Given the description of an element on the screen output the (x, y) to click on. 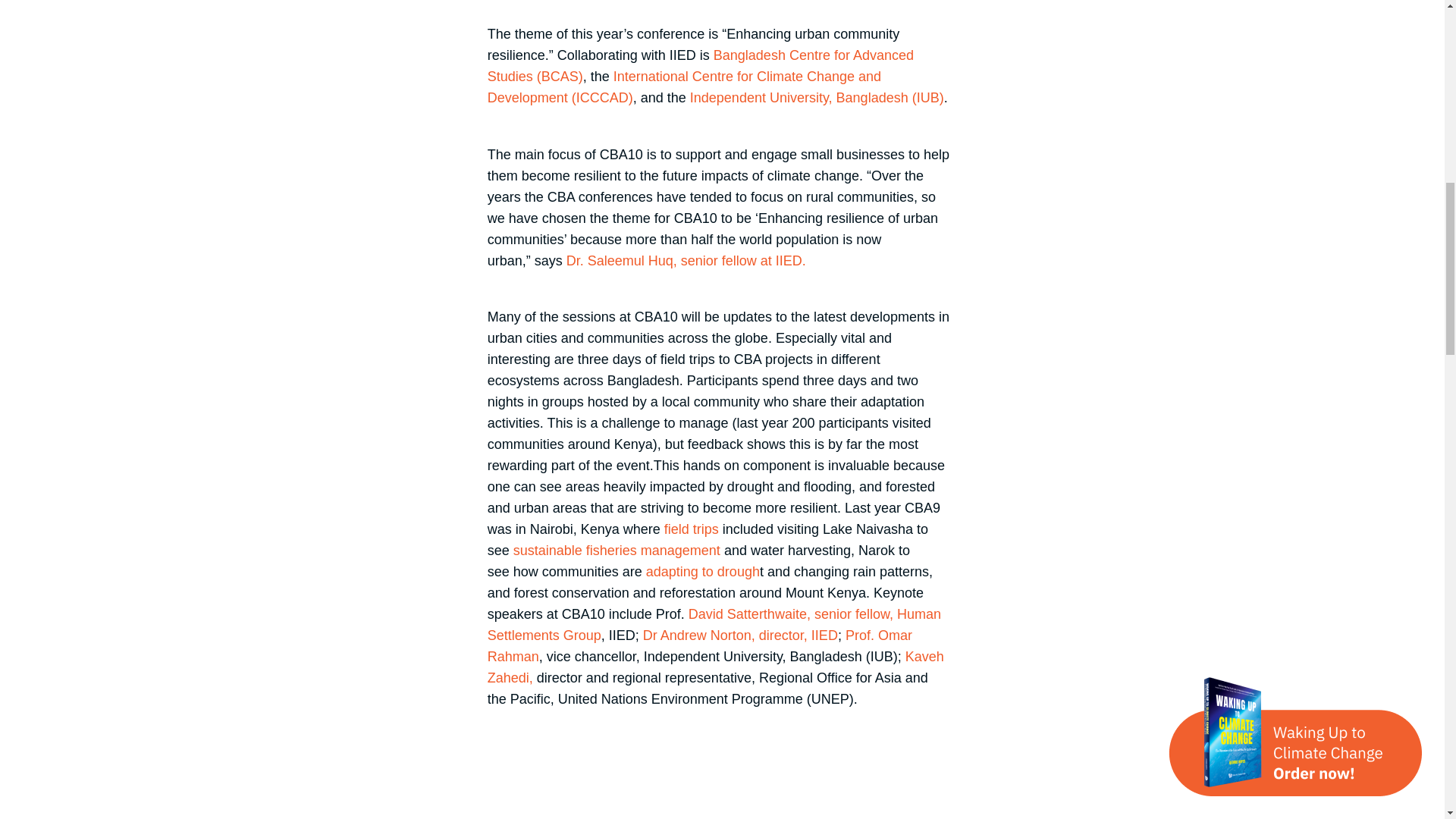
adapting to drough (703, 571)
field trips (690, 529)
Dr Andrew Norton, director, IIED (740, 635)
David Satterthwaite, senior fellow, Human Settlements Group (713, 624)
 Prof. Omar Rahman (699, 646)
Dr. Saleemul Huq, senior fellow at IIED. (686, 260)
Kaveh Zahedi, (715, 667)
sustainable fisheries management (618, 549)
